Given the description of an element on the screen output the (x, y) to click on. 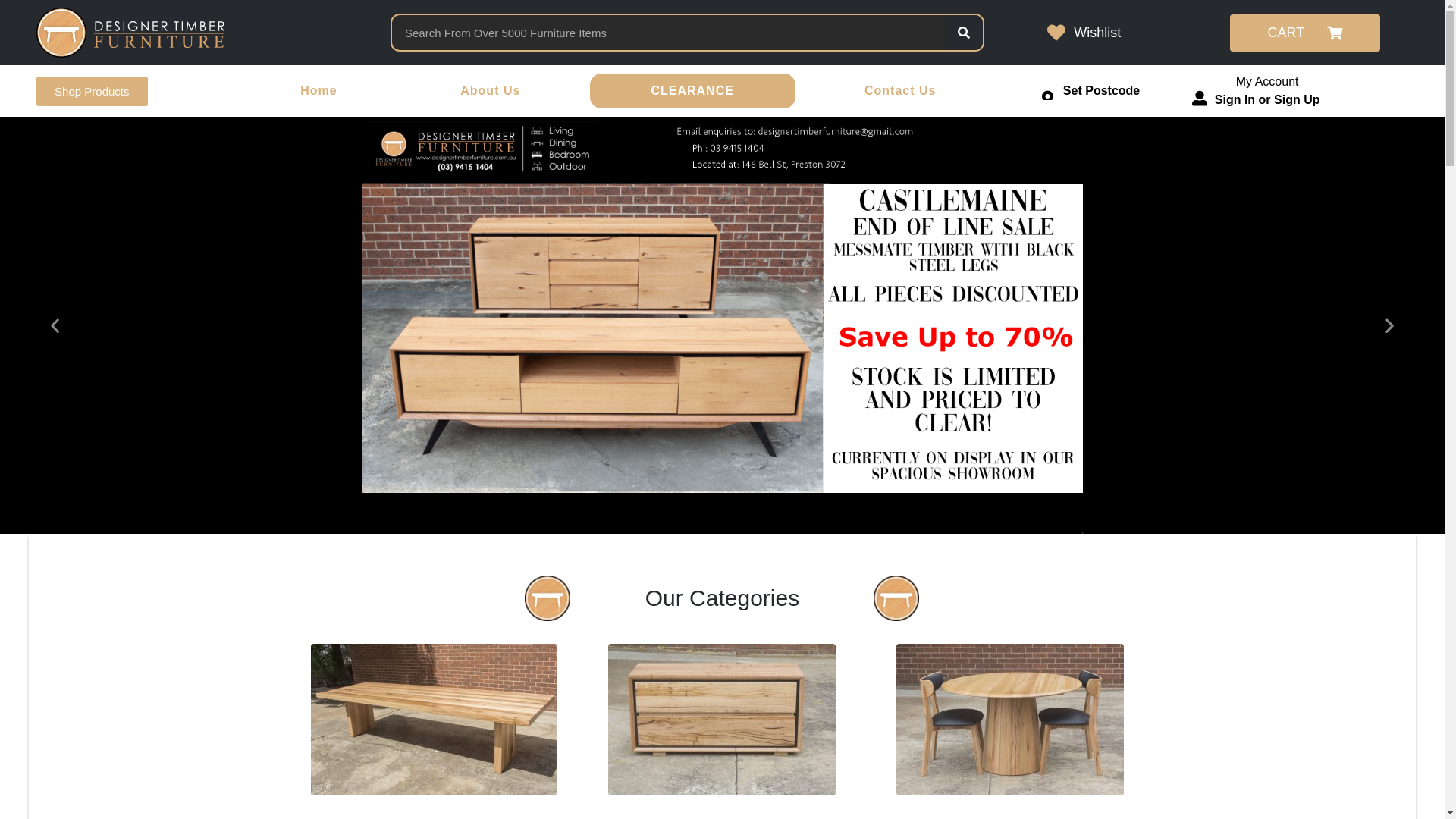
CLEARANCE Element type: text (692, 90)
1615787078Round_Table_Clearance Element type: hover (1009, 719)
Shop Products Element type: text (91, 90)
Set Postcode Element type: text (1089, 90)
1620004003VanBlkbutt1300mm Element type: hover (721, 719)
cropped-1509014315dtflogo.png Element type: hover (547, 598)
16098894103500mm_x_1100mm_Table Element type: hover (433, 719)
CART Element type: text (1305, 31)
Wishlist Element type: text (1084, 32)
About Us Element type: text (490, 90)
Contact Us Element type: text (899, 90)
My Account
Sign In or Sign Up Element type: text (1256, 90)
cropped-1509014315dtflogo.png Element type: hover (896, 598)
Home Element type: text (318, 90)
